Given the description of an element on the screen output the (x, y) to click on. 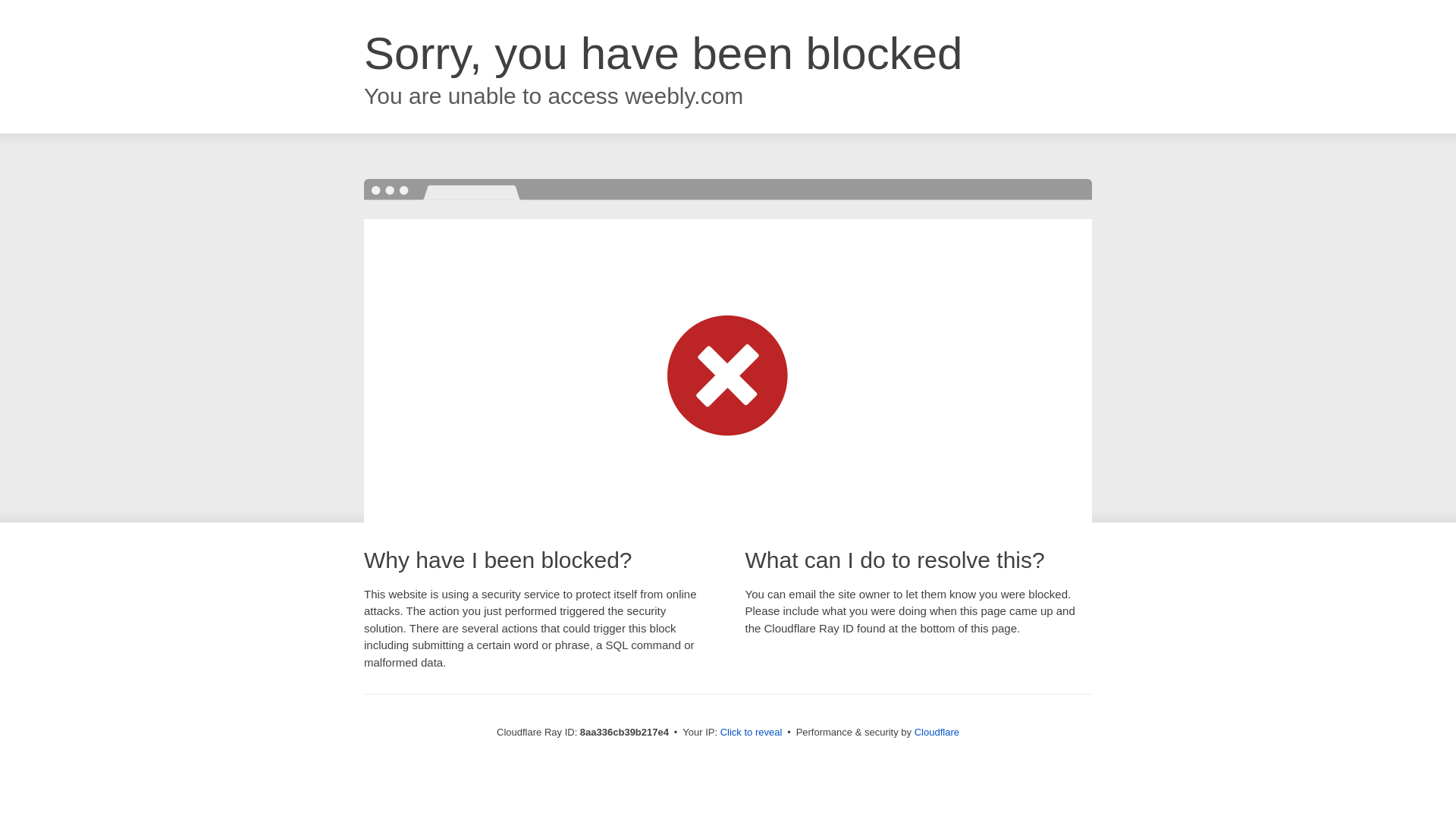
Cloudflare (936, 731)
Click to reveal (751, 732)
